Given the description of an element on the screen output the (x, y) to click on. 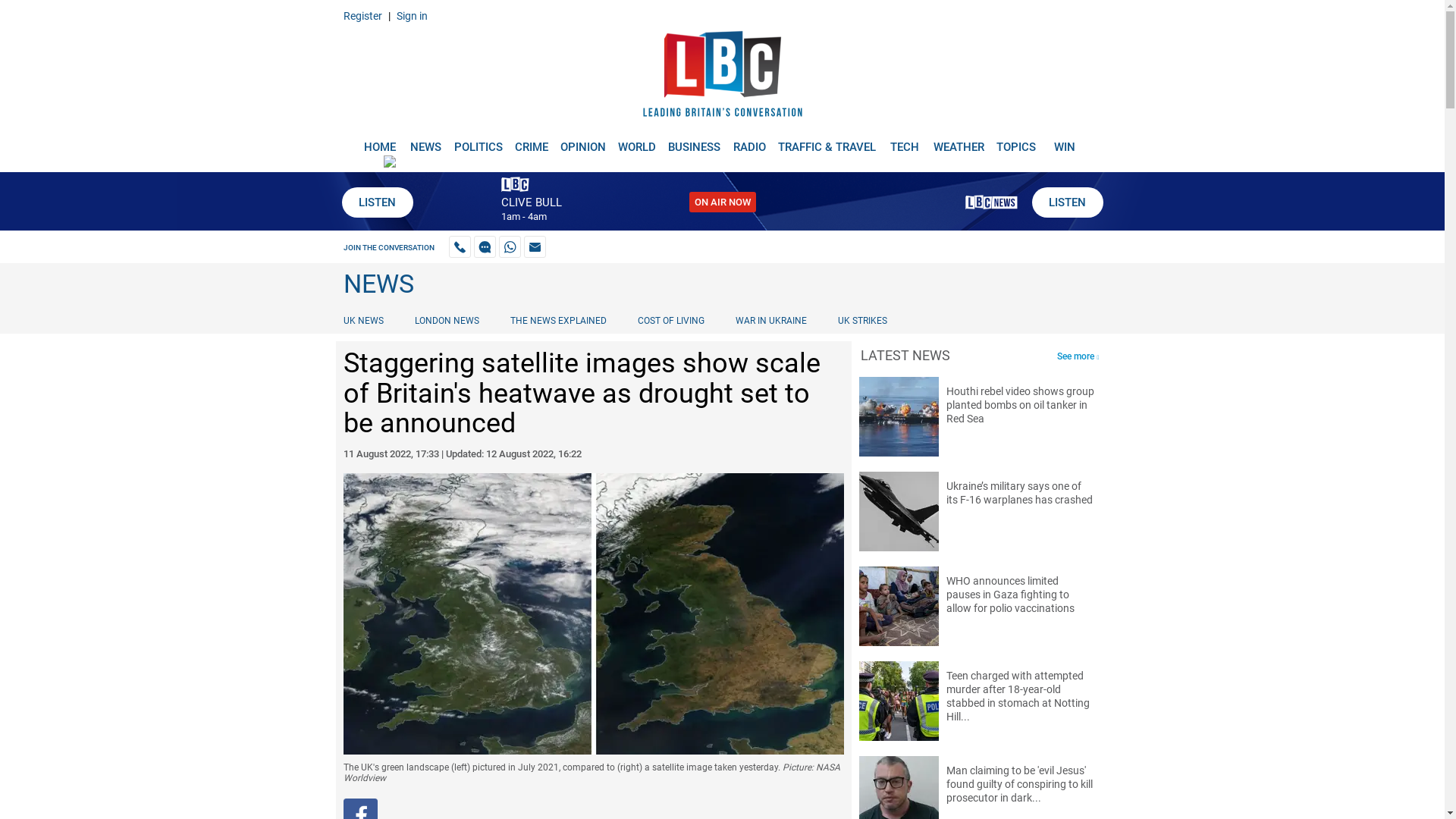
WORLD (636, 140)
Sign in (411, 15)
LBC (722, 77)
WIN (1064, 140)
UK STRIKES (862, 320)
RADIO (748, 140)
OPINION (582, 140)
TOPICS (1016, 140)
Register (361, 15)
WAR IN UKRAINE (770, 320)
